Given the description of an element on the screen output the (x, y) to click on. 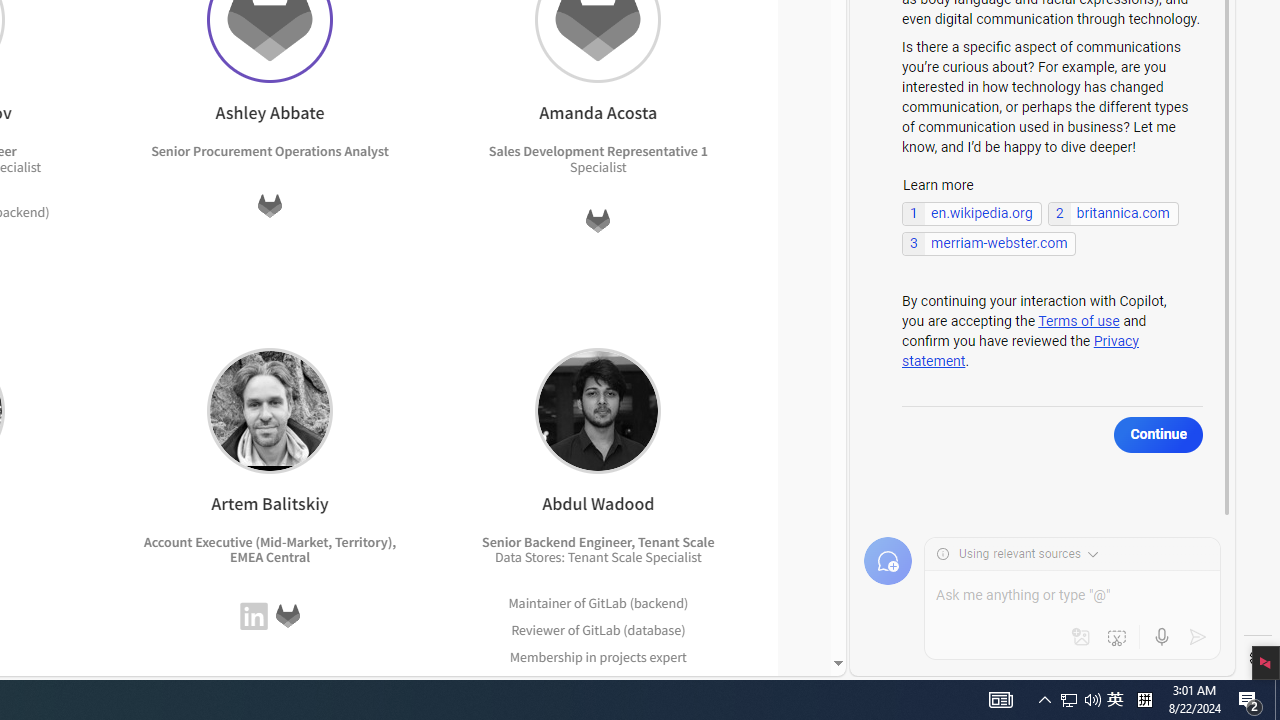
Abdul Wadood (598, 409)
Senior Procurement Operations Analyst (270, 151)
GitLab (601, 629)
expert (664, 682)
Sales Development Representative 1 (597, 151)
Abdul Wadood (598, 410)
Account Executive (Mid-Market, Territory), EMEA Central (269, 549)
